Given the description of an element on the screen output the (x, y) to click on. 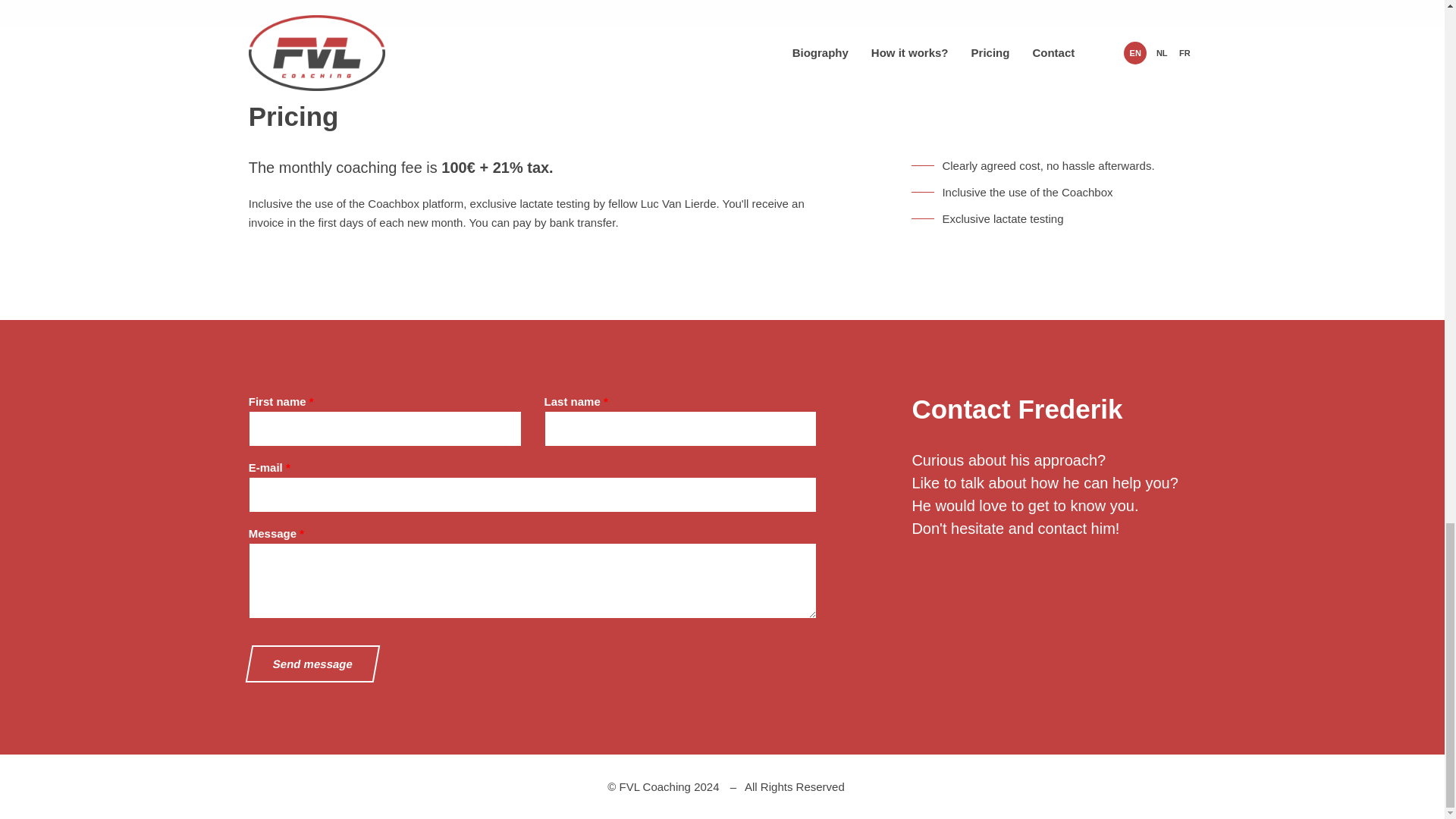
Send message (308, 663)
Send message (308, 663)
